Given the description of an element on the screen output the (x, y) to click on. 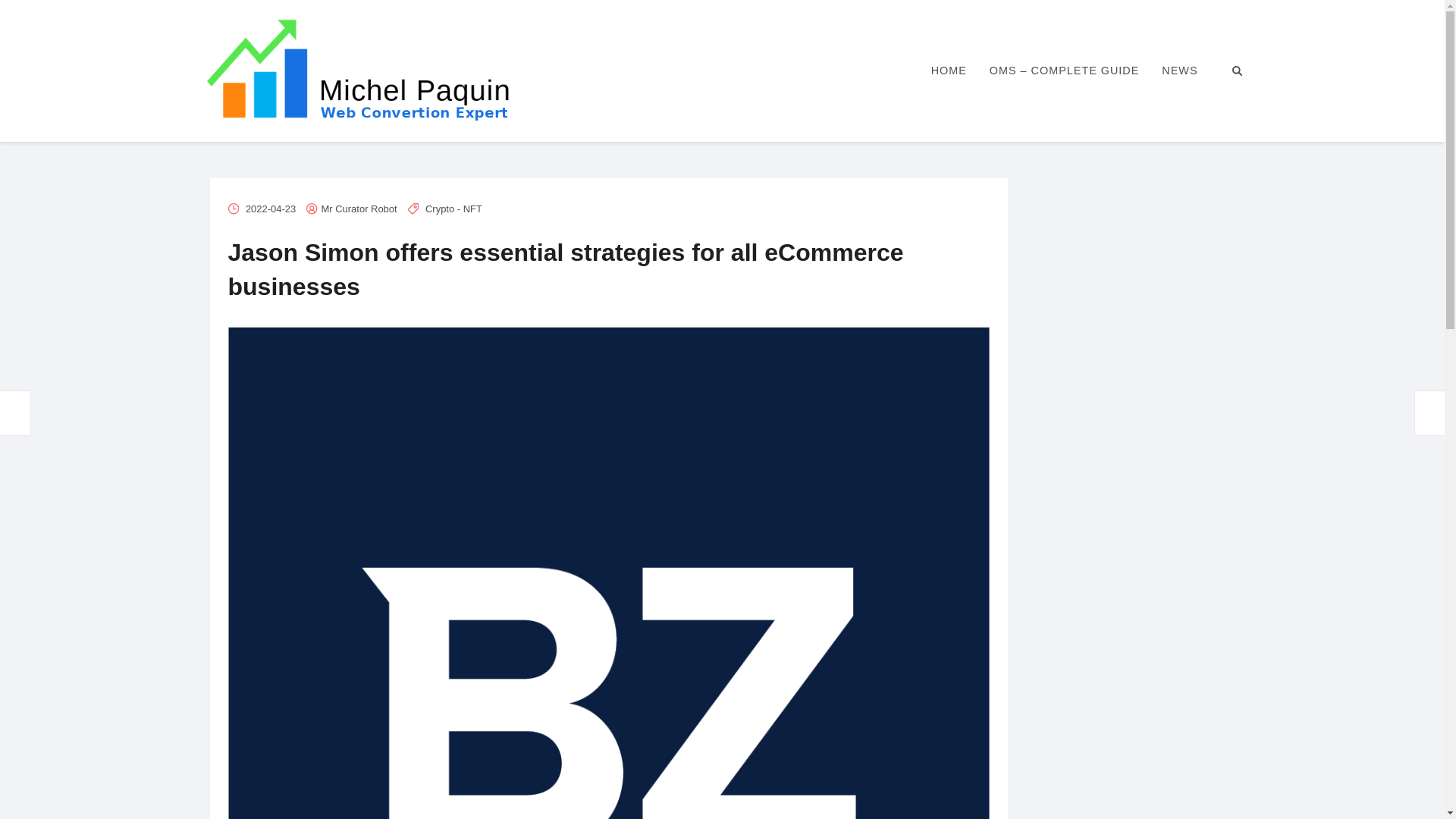
NEWS (1179, 70)
Mr Curator Robot (359, 208)
HOME (949, 70)
2022-04-23 (270, 208)
Crypto - NFT (453, 208)
